Given the description of an element on the screen output the (x, y) to click on. 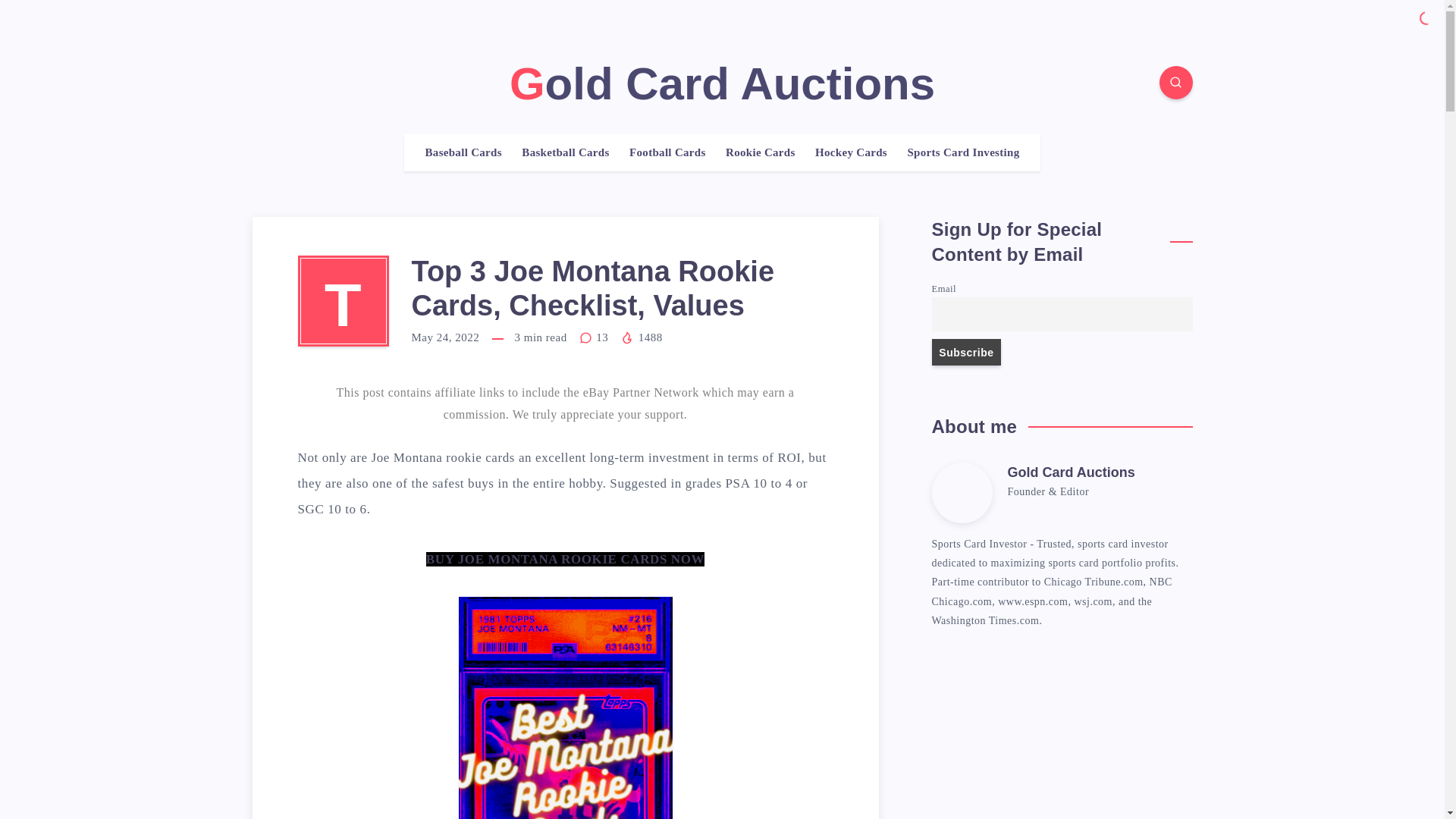
Sports Card Investing (963, 152)
Football Cards (666, 152)
Rookie Cards (759, 152)
Basketball Cards (564, 152)
BUY JOE MONTANA ROOKIE CARDS NOW (565, 559)
Baseball Cards (463, 152)
13 (595, 337)
Subscribe (966, 352)
Hockey Cards (850, 152)
1488 Views (641, 337)
13 Comments (595, 337)
Gold Card Auctions (721, 83)
